Given the description of an element on the screen output the (x, y) to click on. 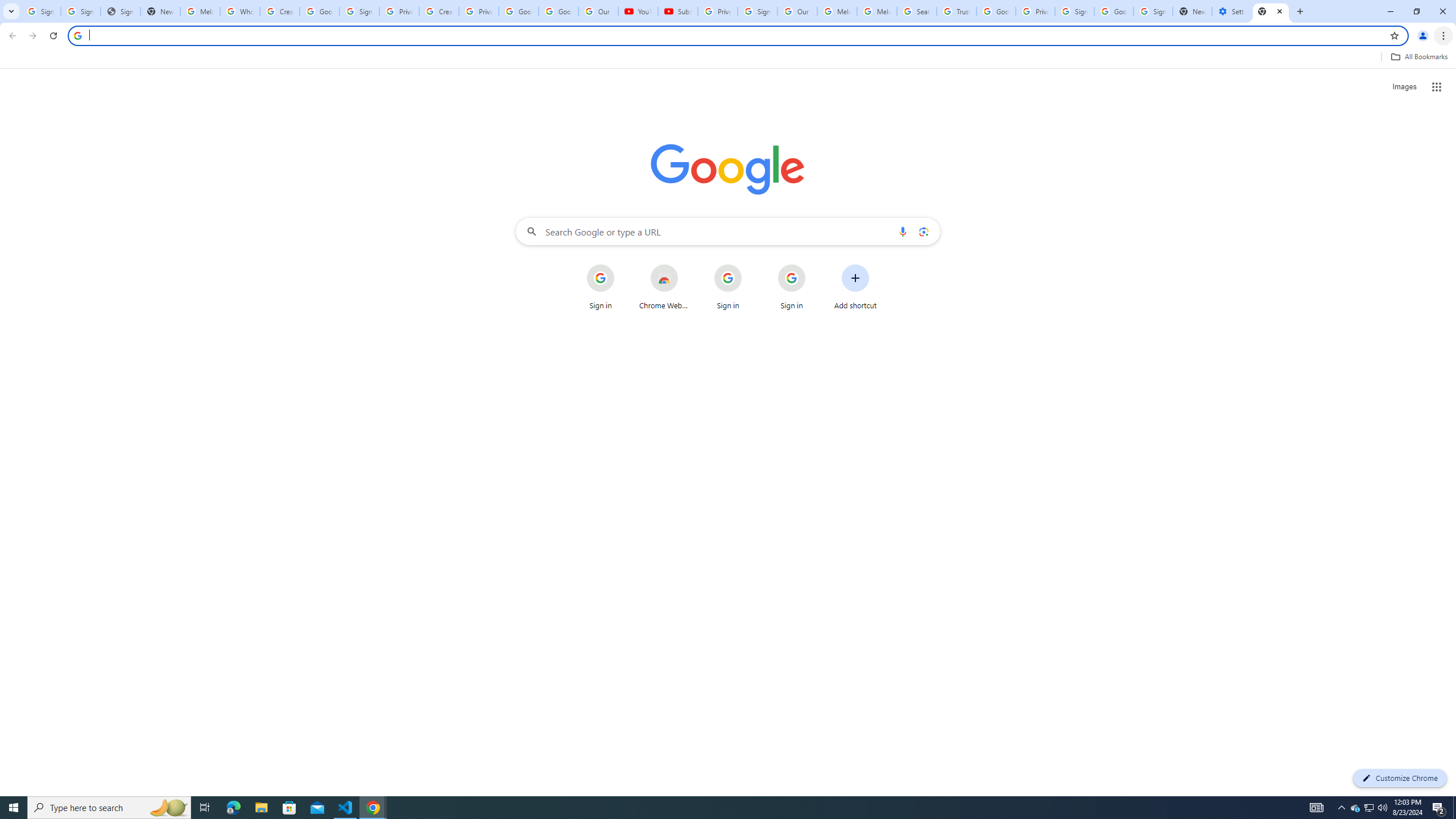
Google Cybersecurity Innovations - Google Safety Center (1113, 11)
Search icon (77, 35)
Google Ads - Sign in (995, 11)
Search our Doodle Library Collection - Google Doodles (916, 11)
Google Account (557, 11)
Sign in - Google Accounts (80, 11)
New Tab (1270, 11)
Add shortcut (855, 287)
